Given the description of an element on the screen output the (x, y) to click on. 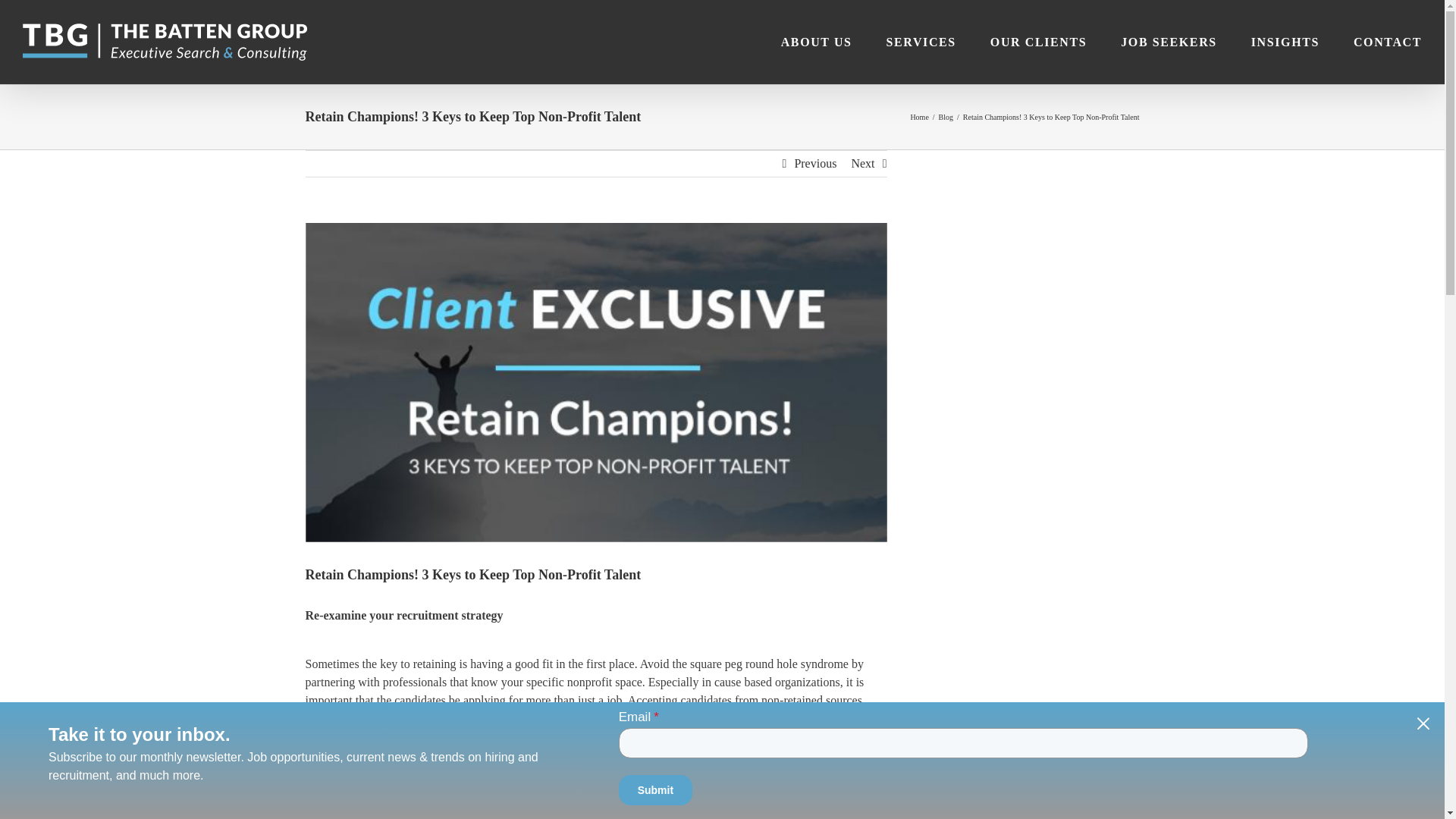
JOB SEEKERS (1169, 42)
OUR CLIENTS (1038, 42)
